Given the description of an element on the screen output the (x, y) to click on. 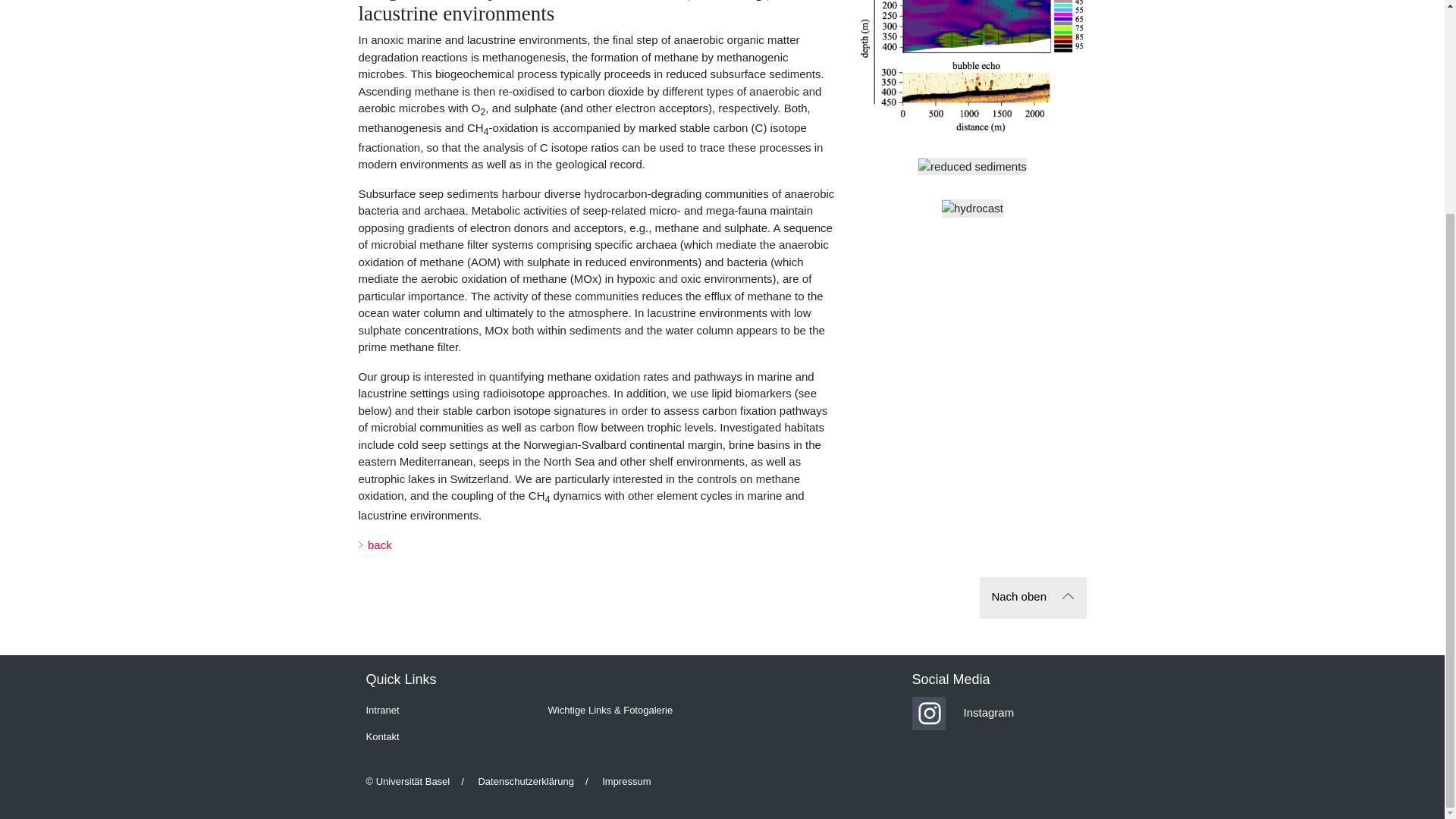
Impressum (611, 781)
Kontakt (381, 736)
Nach oben (1032, 598)
Intranet (381, 709)
Instagram (962, 712)
Kontakt (449, 736)
Opens internal link in current window (374, 544)
Intranet (449, 710)
Instagram (995, 713)
Impressum (626, 781)
 back (374, 544)
Nach oben (1032, 598)
